Given the description of an element on the screen output the (x, y) to click on. 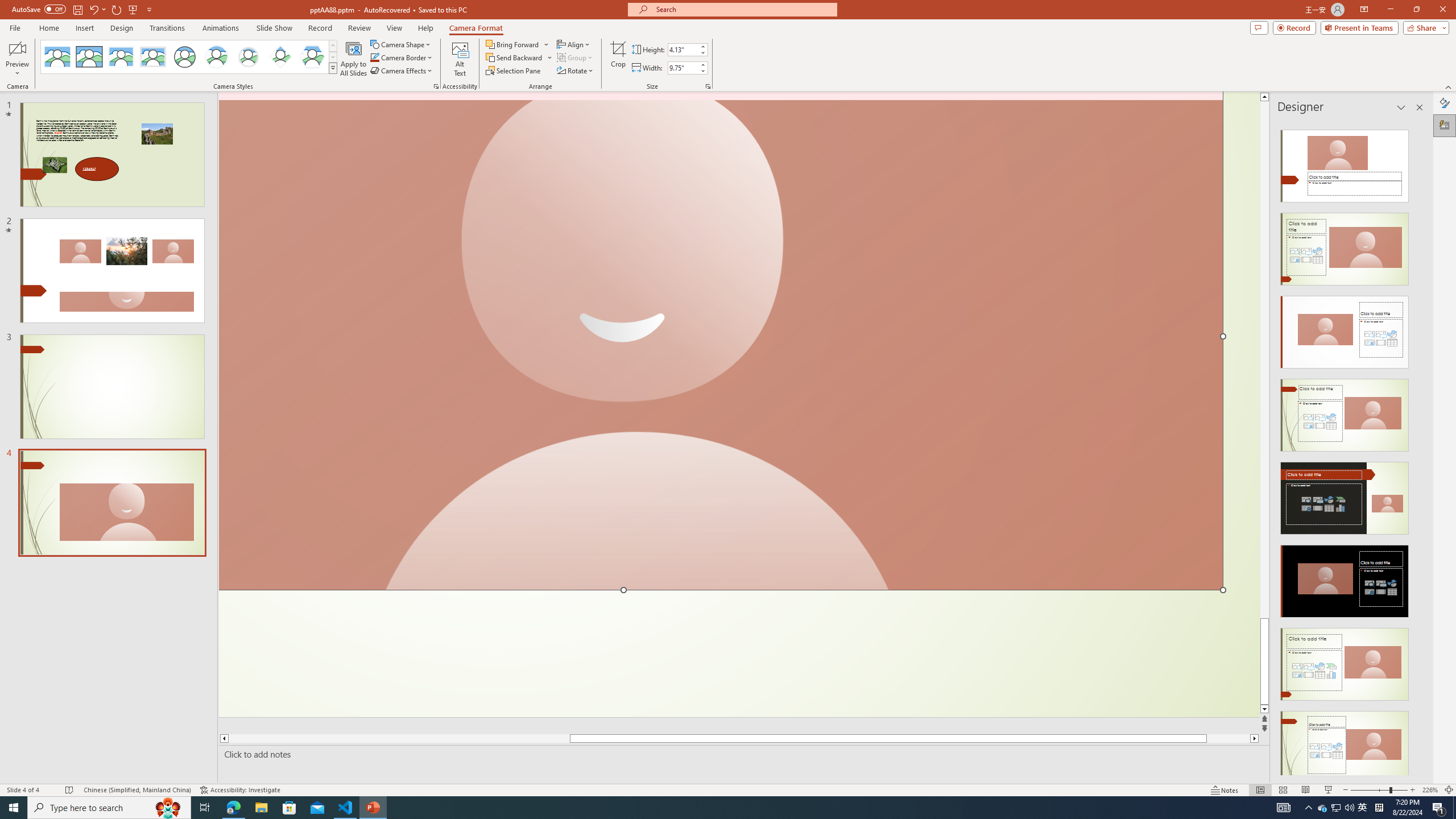
Camera Border (401, 56)
Selection Pane... (513, 69)
Bring Forward (517, 44)
Format Background (1444, 102)
Camera 3, No camera detected. (721, 341)
Enable Camera Preview (17, 48)
